Given the description of an element on the screen output the (x, y) to click on. 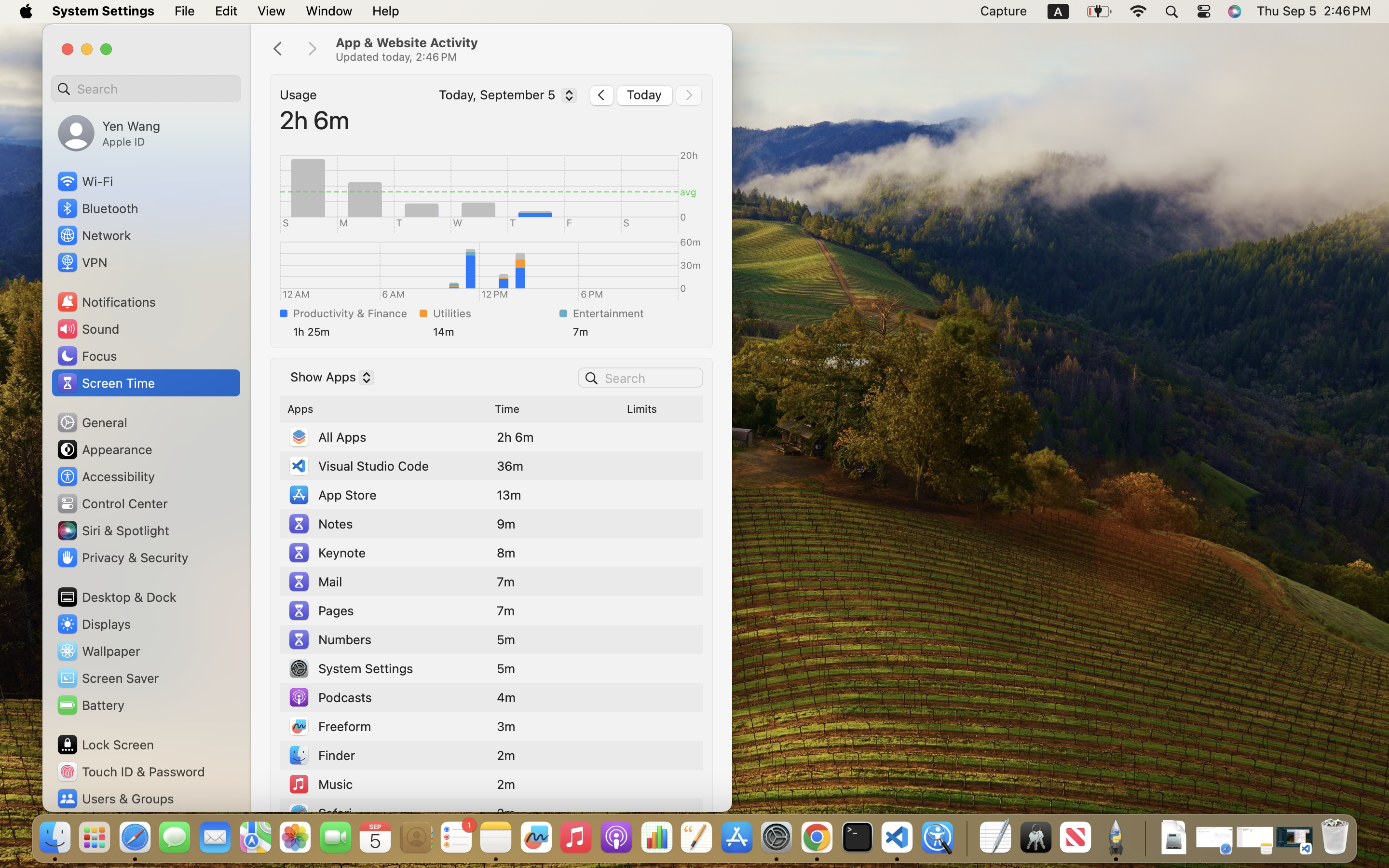
Podcasts Element type: AXStaticText (329, 696)
Screen Saver Element type: AXStaticText (107, 677)
Usage Element type: AXStaticText (298, 94)
Users & Groups Element type: AXStaticText (114, 798)
2h 6m Element type: AXStaticText (314, 119)
